Given the description of an element on the screen output the (x, y) to click on. 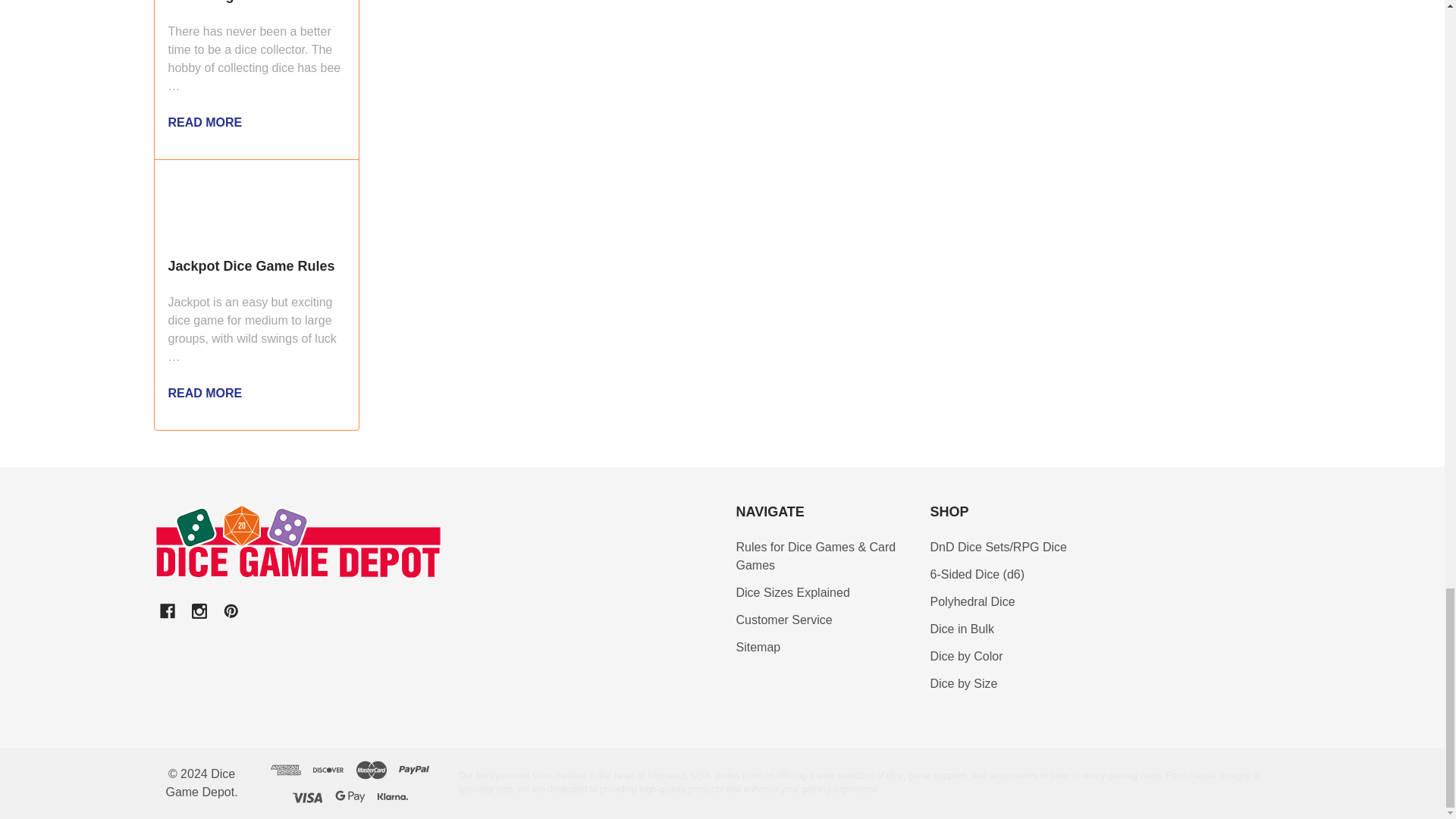
Jackpot Dice Game Rules (256, 203)
